Given the description of an element on the screen output the (x, y) to click on. 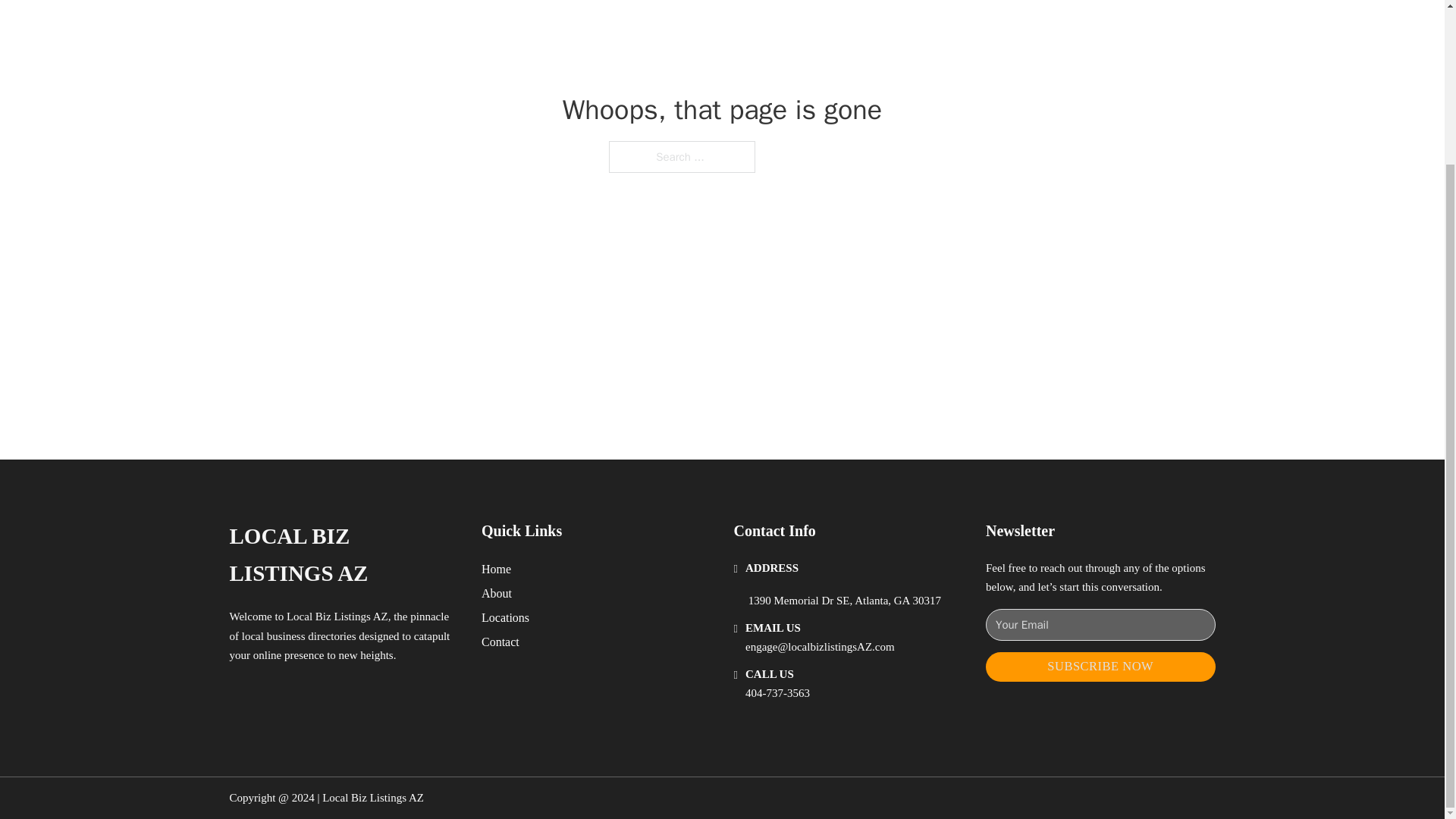
Home (496, 568)
Contact (500, 641)
LOCAL BIZ LISTINGS AZ (343, 554)
Locations (505, 617)
SUBSCRIBE NOW (1100, 666)
About (496, 593)
404-737-3563 (777, 693)
